Given the description of an element on the screen output the (x, y) to click on. 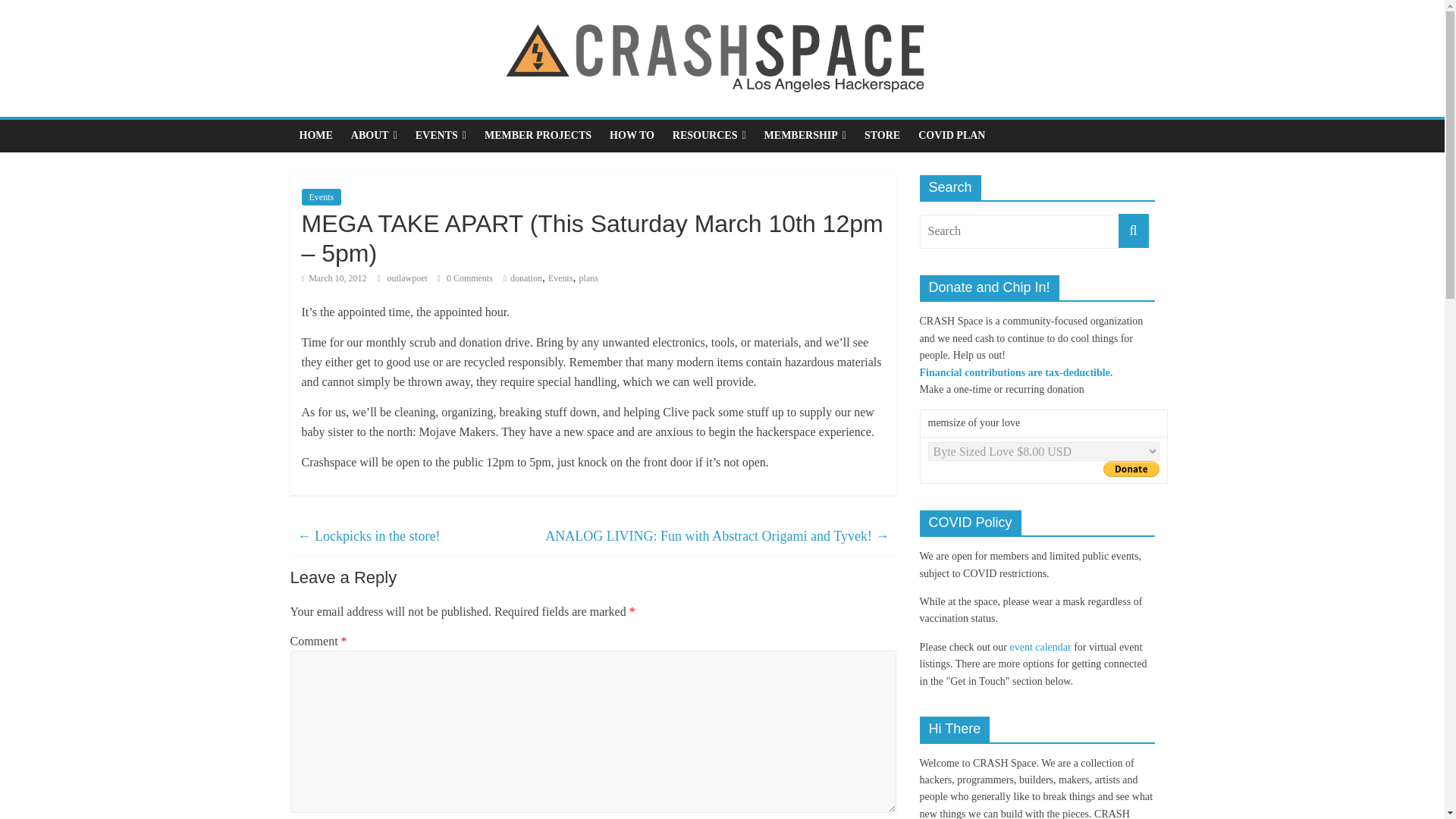
STORE (882, 135)
Events (321, 197)
outlawpoet (408, 277)
MEMBER PROJECTS (537, 135)
March 10, 2012 (333, 277)
COVID PLAN (951, 135)
HOW TO (631, 135)
EVENTS (441, 135)
HOME (314, 135)
outlawpoet (408, 277)
